Given the description of an element on the screen output the (x, y) to click on. 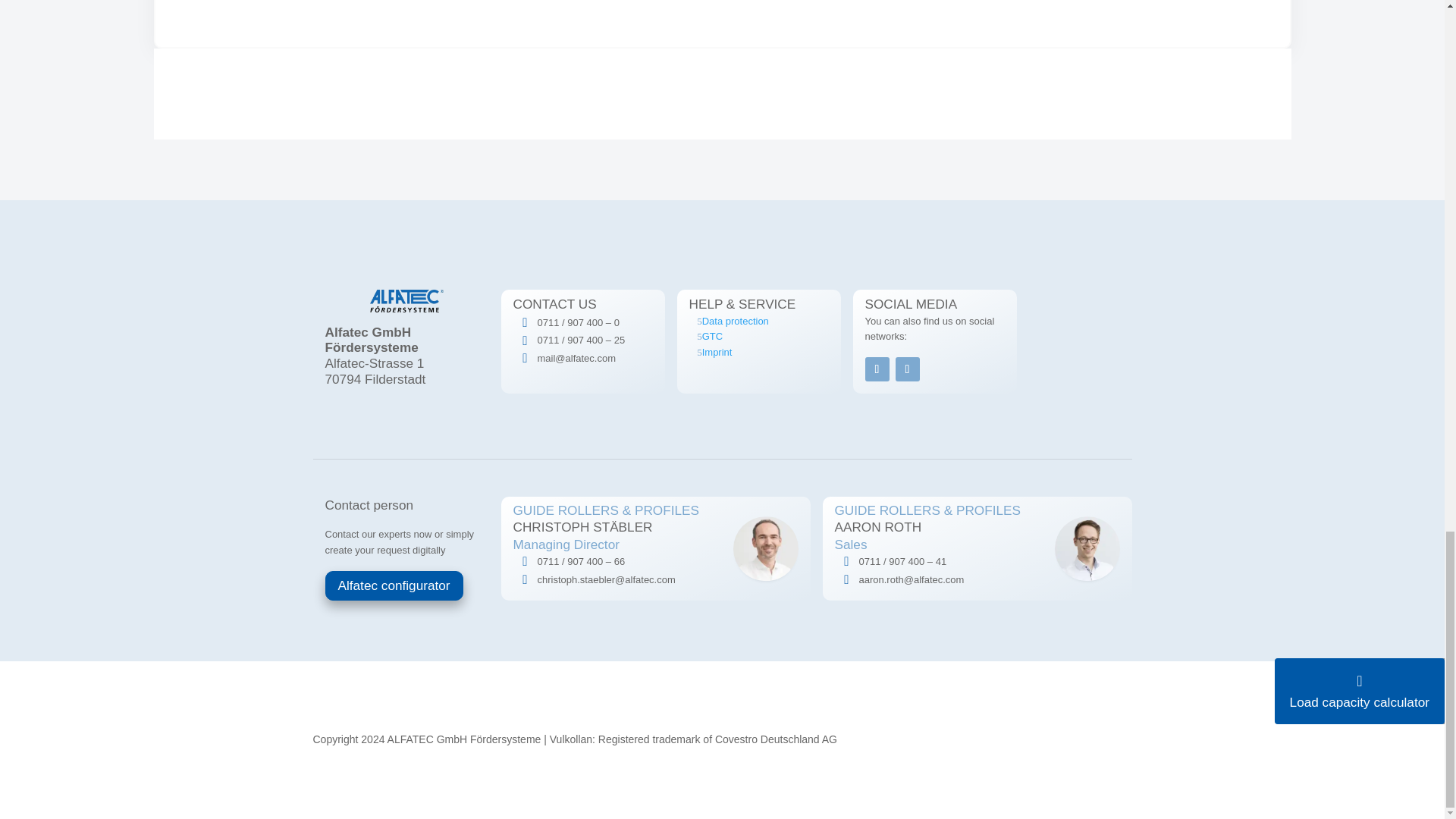
Follow on XING (906, 369)
Follow on LinkedIn (876, 369)
Aaron Roth Portrait (1086, 548)
